Given the description of an element on the screen output the (x, y) to click on. 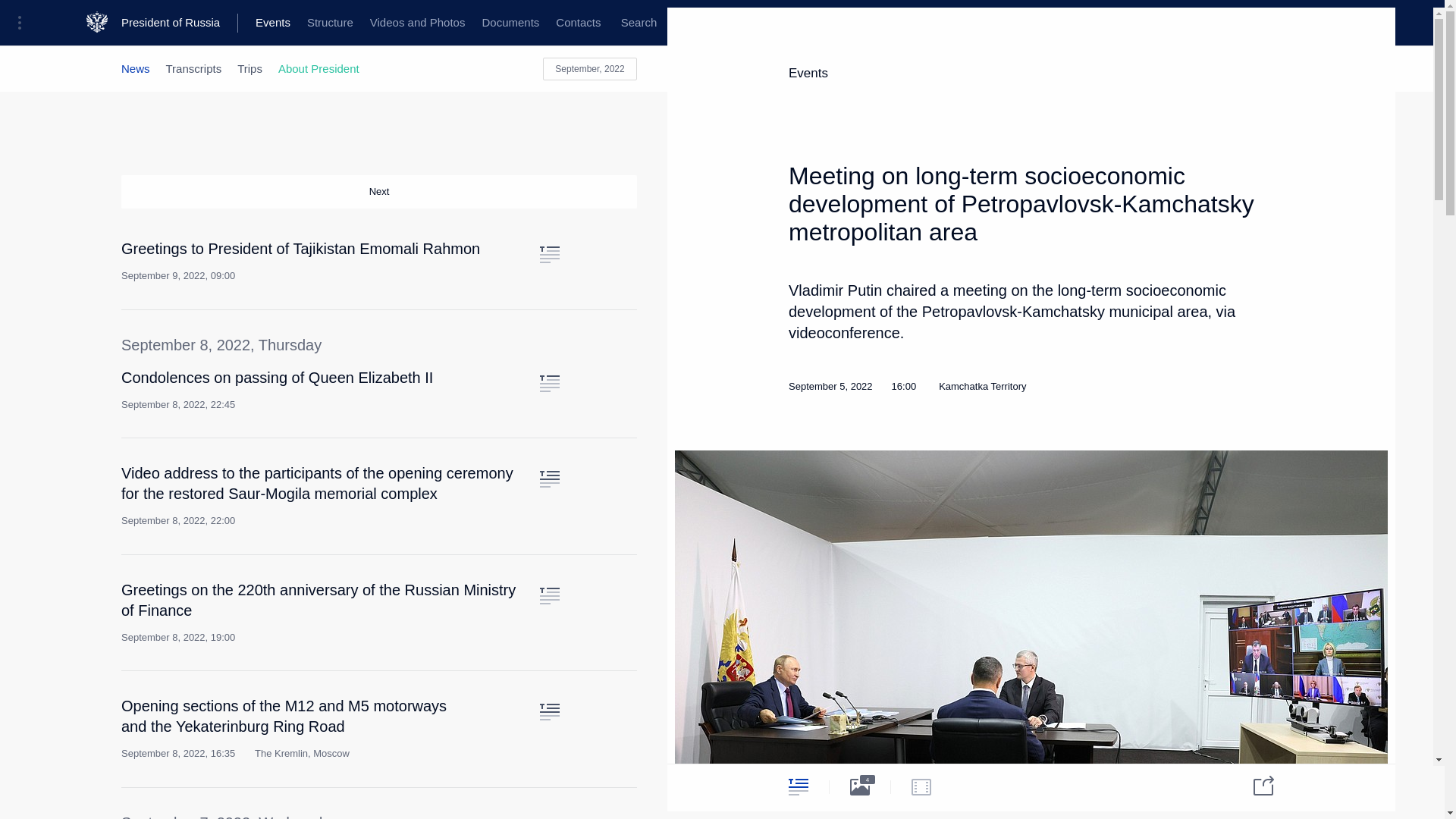
Text of the article (549, 383)
Text of the article (549, 478)
Videos and Photos (417, 22)
Search (638, 22)
Documents (510, 22)
Structure (329, 22)
September, 2022 (590, 68)
President of Russia (179, 22)
Events (272, 22)
